Given the description of an element on the screen output the (x, y) to click on. 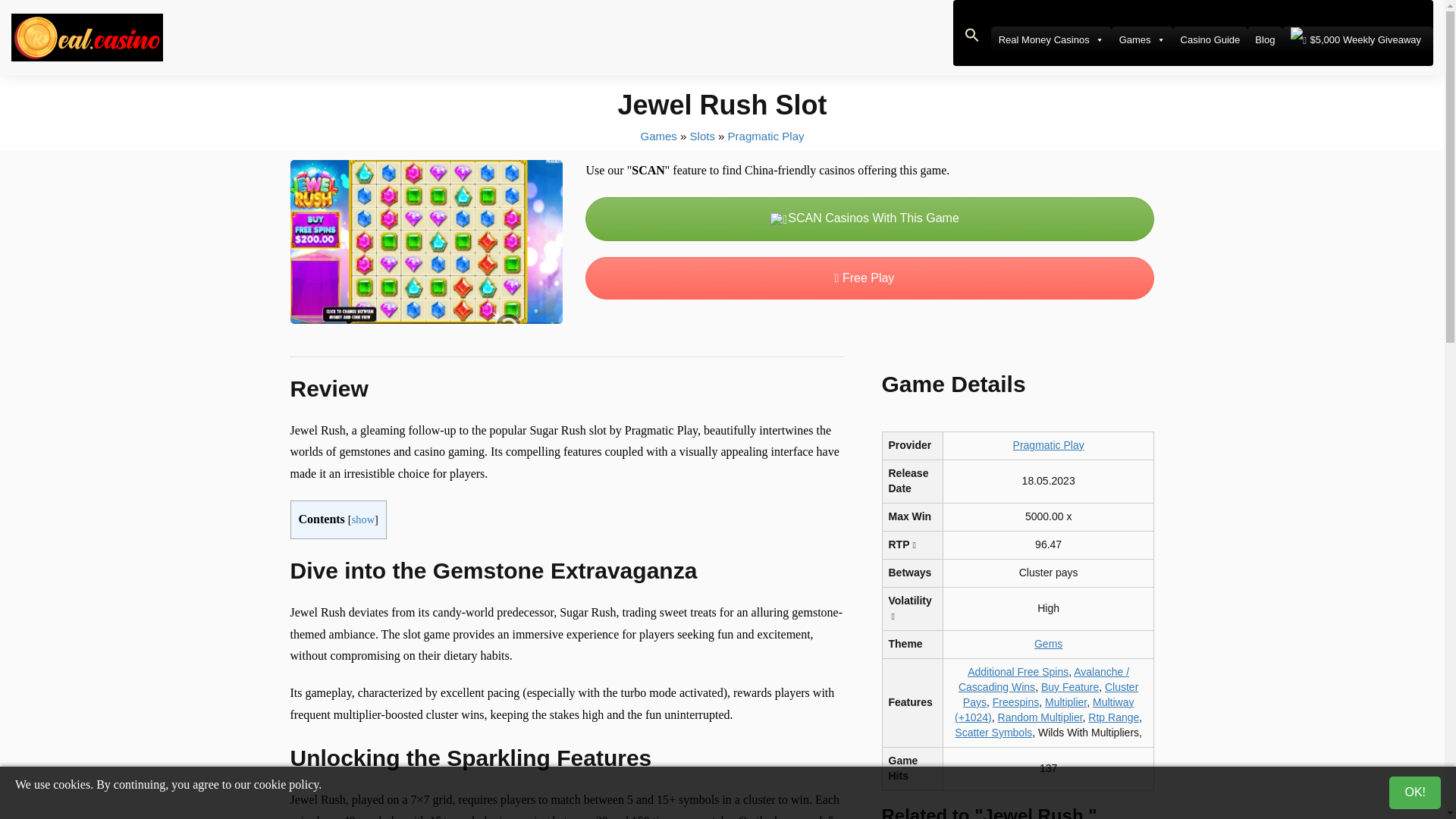
Real Money Casinos (1051, 39)
Online Casino Games (658, 135)
Online Slots (702, 135)
Pragmatic Play Slots (766, 135)
Games (1142, 39)
